Given the description of an element on the screen output the (x, y) to click on. 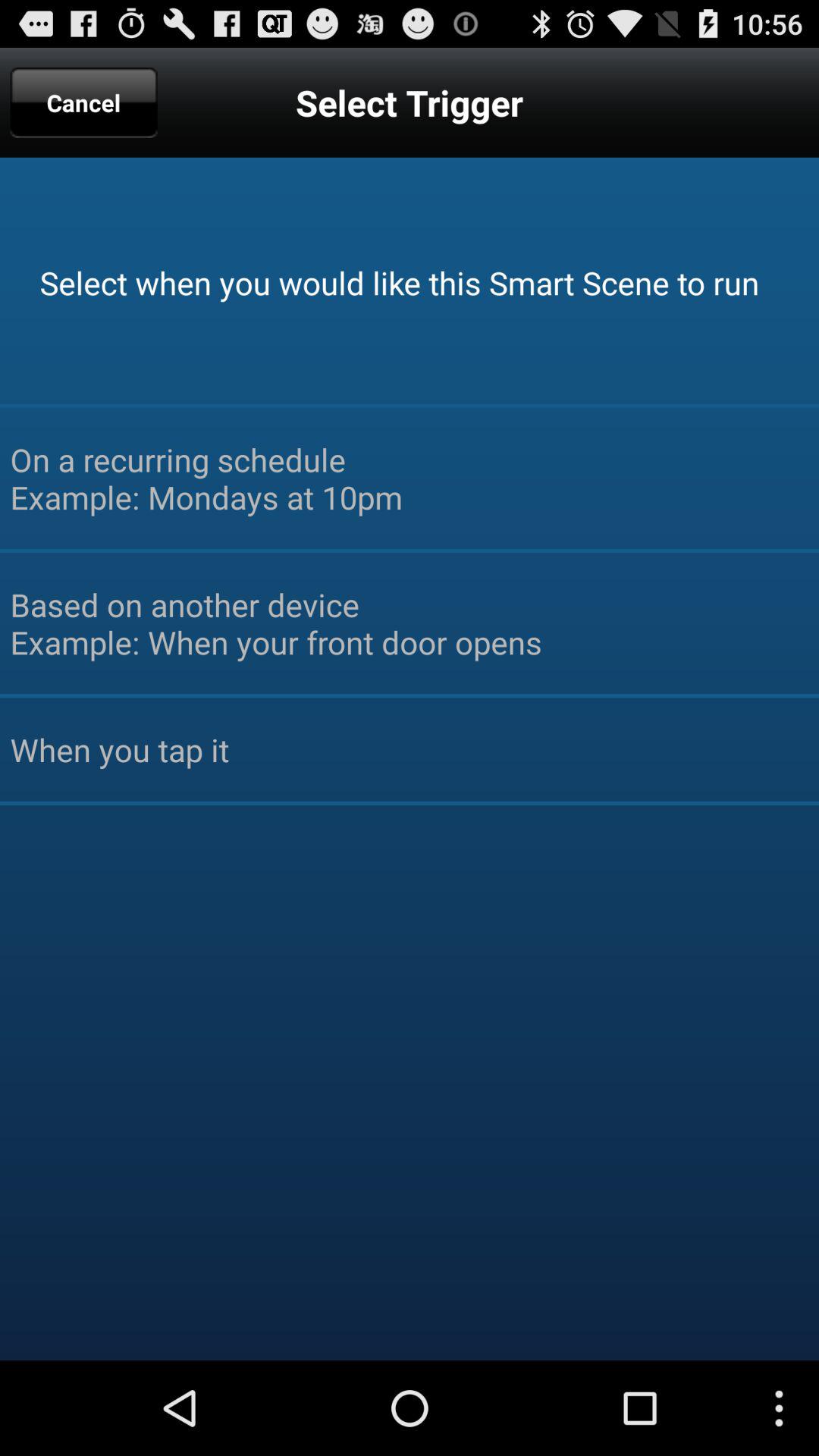
turn on the item above based on another app (409, 477)
